Given the description of an element on the screen output the (x, y) to click on. 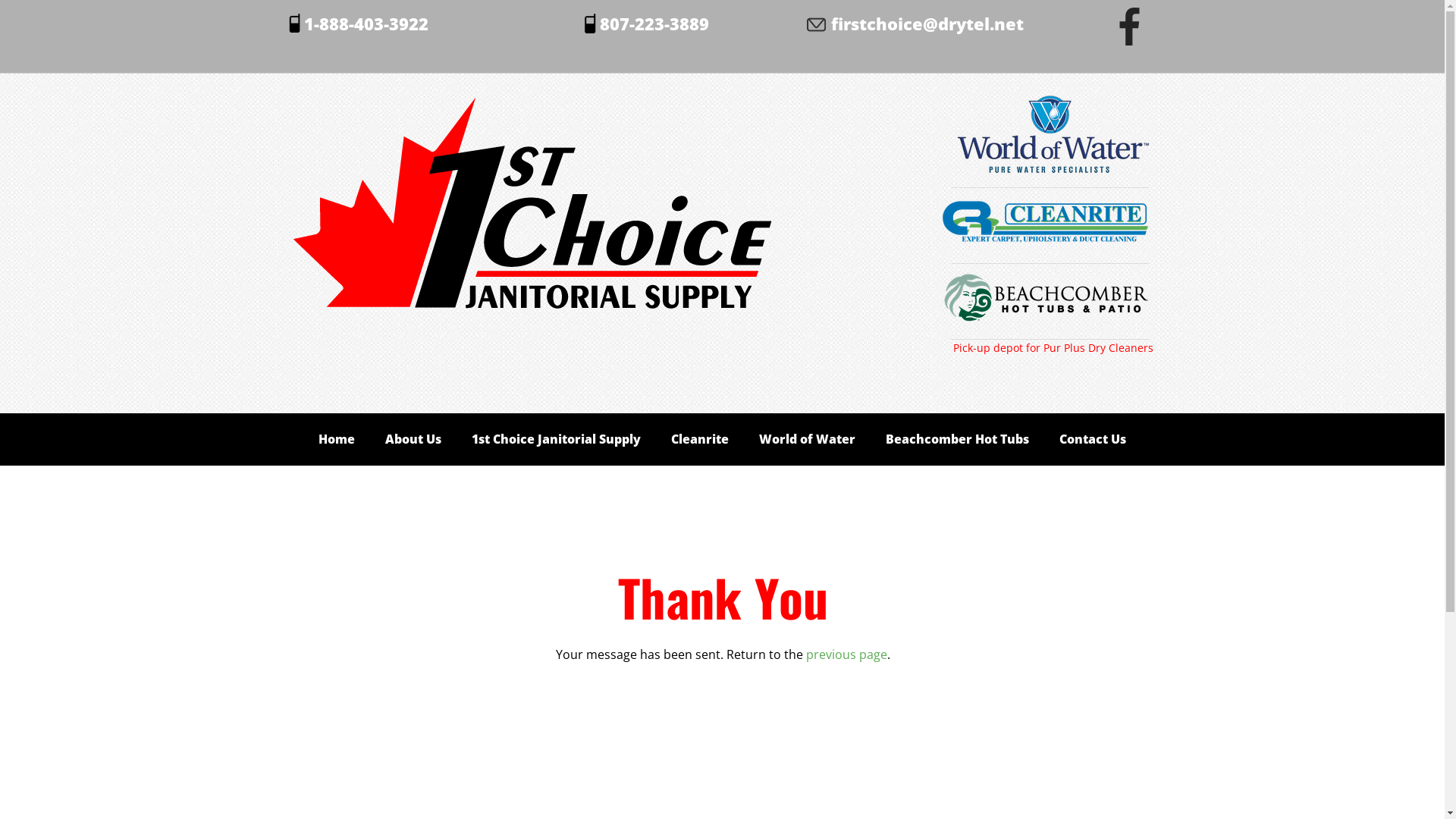
Beachcomber Hot Tubs Element type: text (957, 439)
firstchoice@drytel.net Element type: text (927, 23)
Home Element type: text (336, 439)
About Us Element type: text (413, 439)
Contact Us Element type: text (1092, 439)
1st Choice Janitorial Supply Element type: text (555, 439)
807-223-3889 Element type: text (653, 23)
World of Water Element type: text (806, 439)
Cleanrite Element type: text (699, 439)
previous page Element type: text (845, 654)
1-888-403-3922 Element type: text (365, 23)
